Given the description of an element on the screen output the (x, y) to click on. 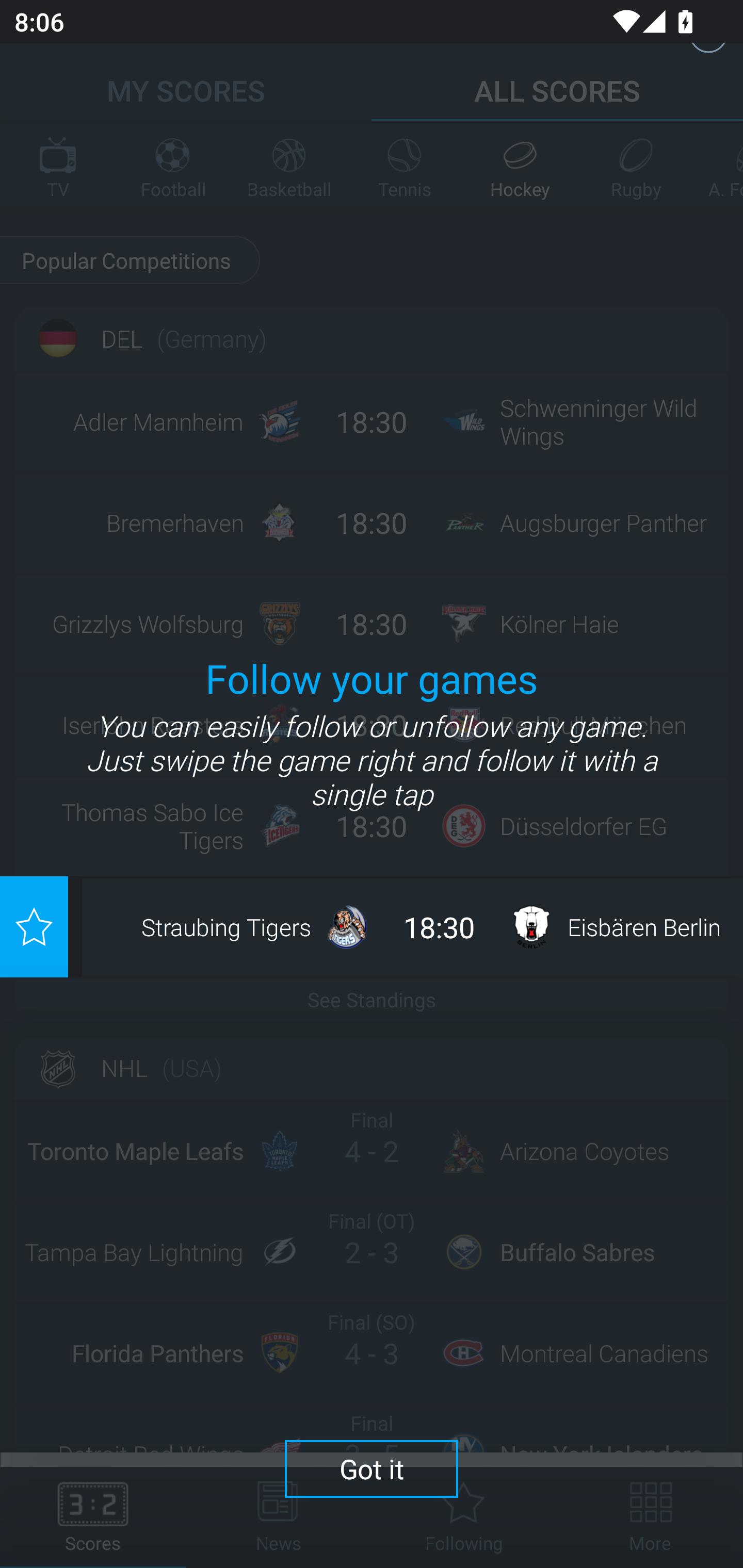
Straubing Tigers 18:30 Eisbären Berlin (404, 926)
Got it (371, 1468)
